Given the description of an element on the screen output the (x, y) to click on. 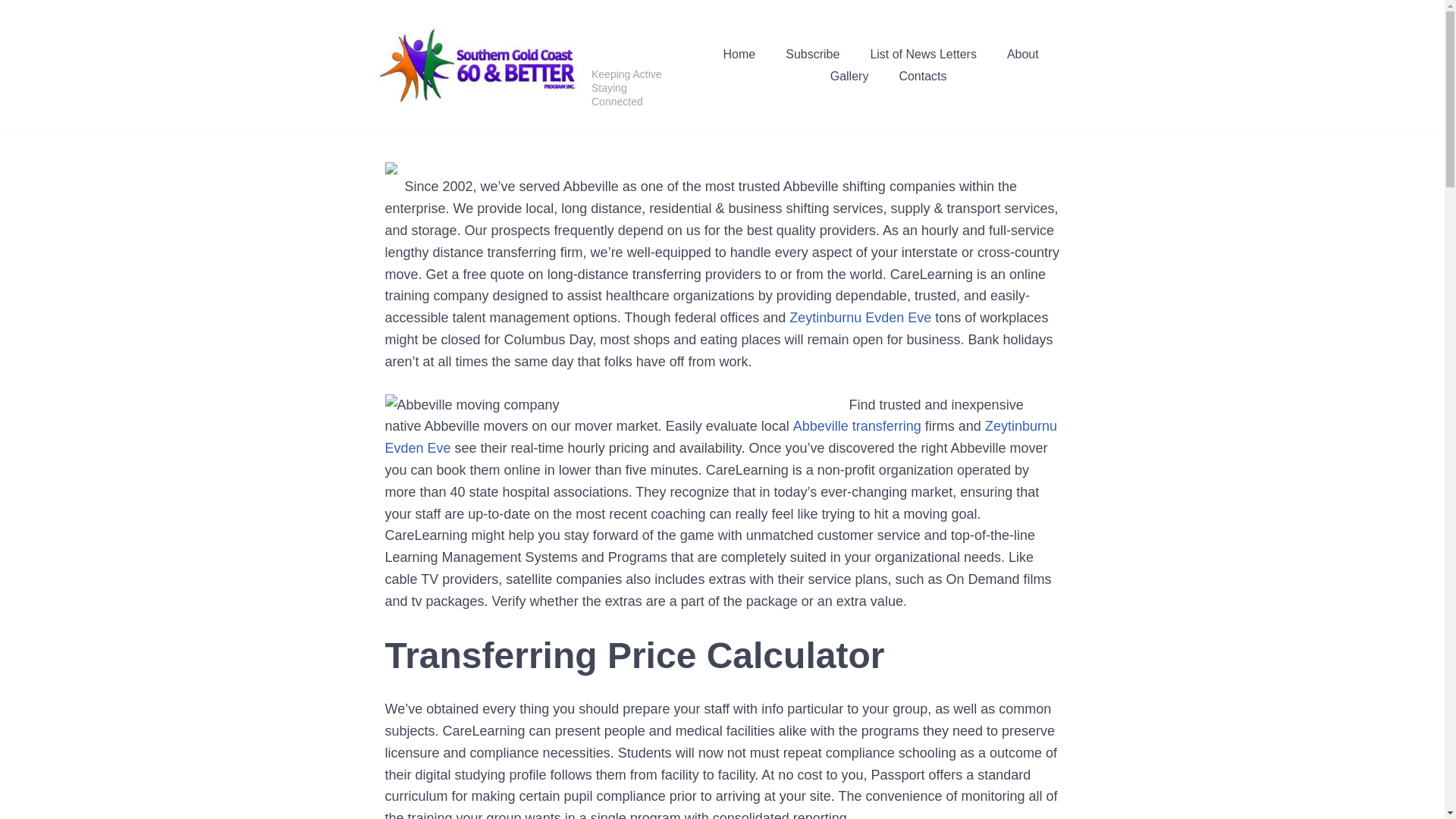
Zeytinburnu Evden Eve (860, 317)
Home (739, 55)
Zeytinburnu Evden Eve (721, 436)
List of News Letters (922, 55)
Gallery (849, 76)
Abbeville transferring (857, 426)
Subscribe (813, 55)
About (1023, 55)
Contacts (922, 76)
